Given the description of an element on the screen output the (x, y) to click on. 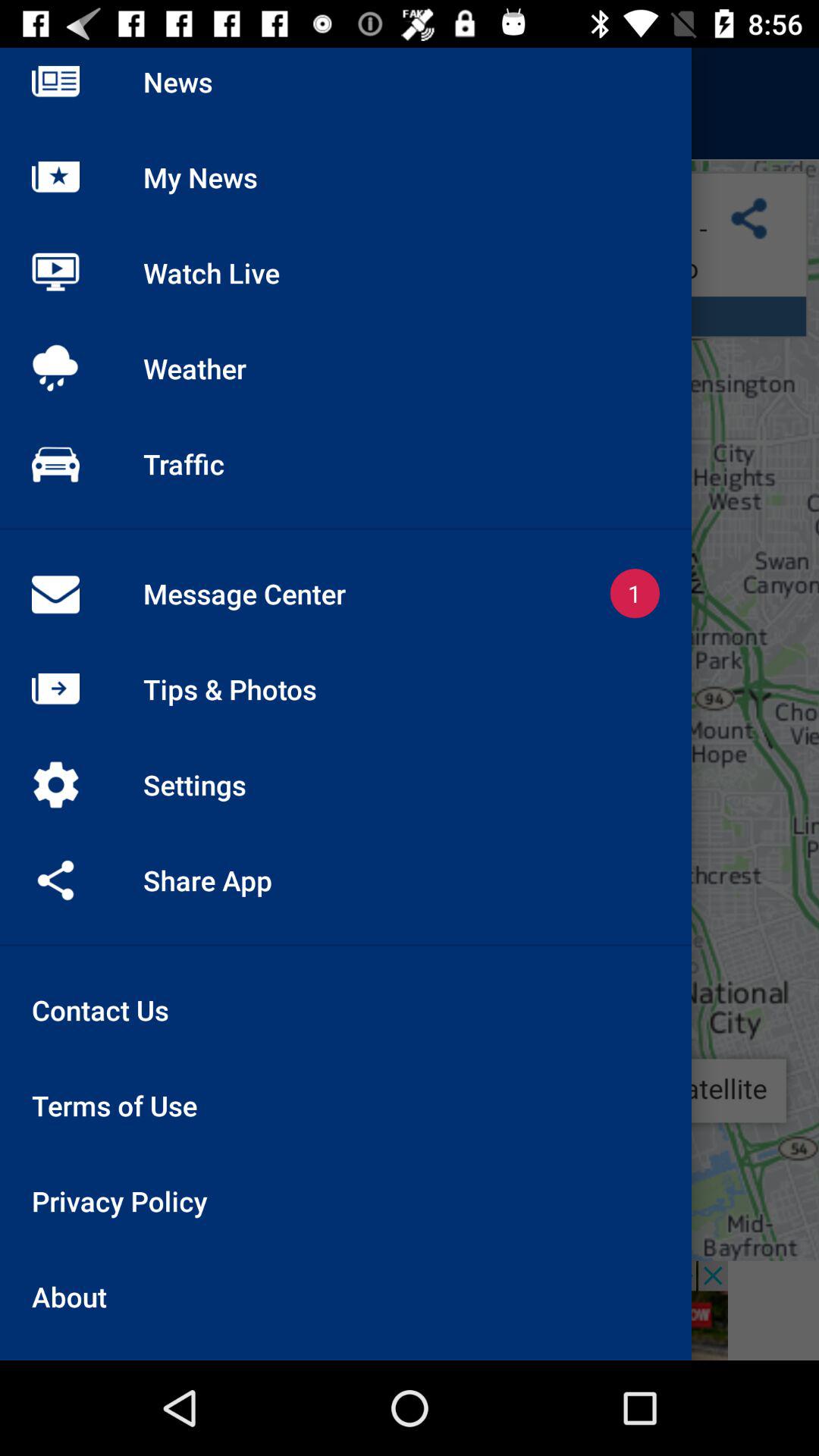
click on the icon beside the news (56, 103)
